Given the description of an element on the screen output the (x, y) to click on. 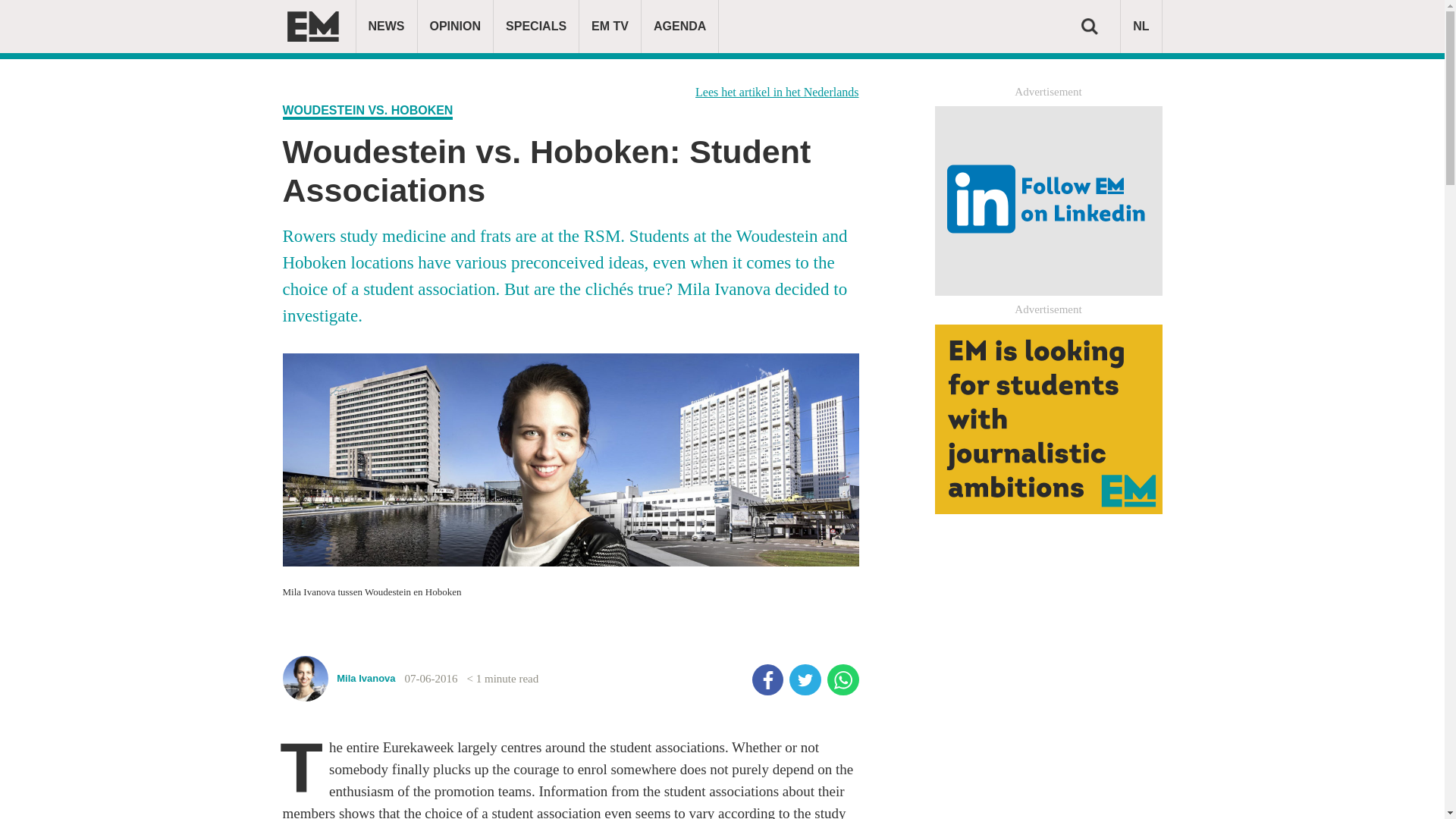
Tweet (805, 680)
Mila Ivanova (338, 688)
SPECIALS (535, 26)
Lees het artikel in het Nederlands (777, 91)
OPINION (454, 26)
WOUDESTEIN VS. HOBOKEN (367, 111)
Share (768, 680)
AGENDA (679, 26)
Share (768, 680)
Search (1088, 26)
Erasmus Magazine (312, 26)
Tweet (805, 680)
Share via WhatsApp (843, 680)
Share via WhatsApp (843, 680)
